Given the description of an element on the screen output the (x, y) to click on. 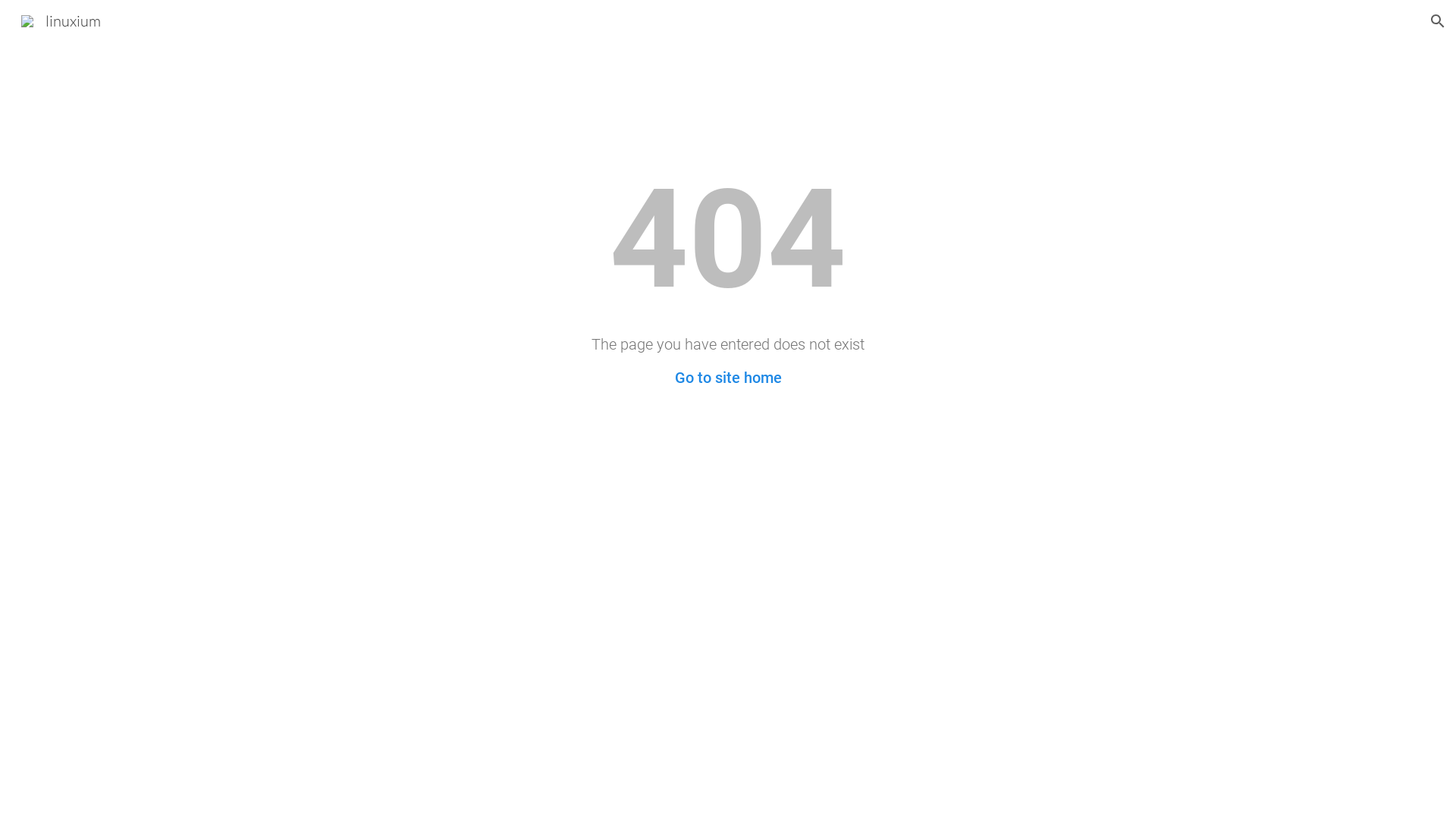
linuxium Element type: text (60, 18)
Go to site home Element type: text (727, 377)
